Given the description of an element on the screen output the (x, y) to click on. 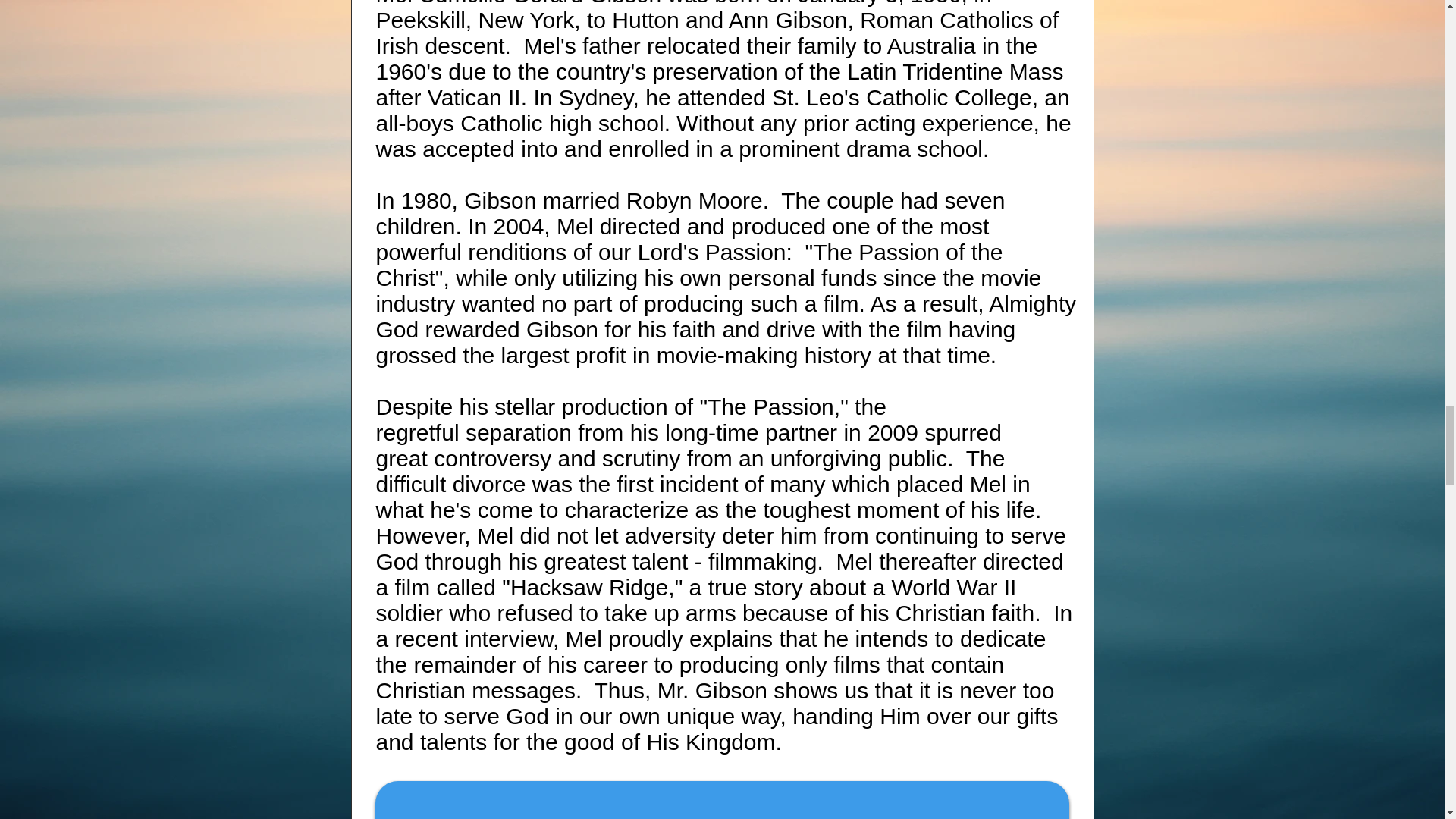
External YouTube (721, 802)
